Given the description of an element on the screen output the (x, y) to click on. 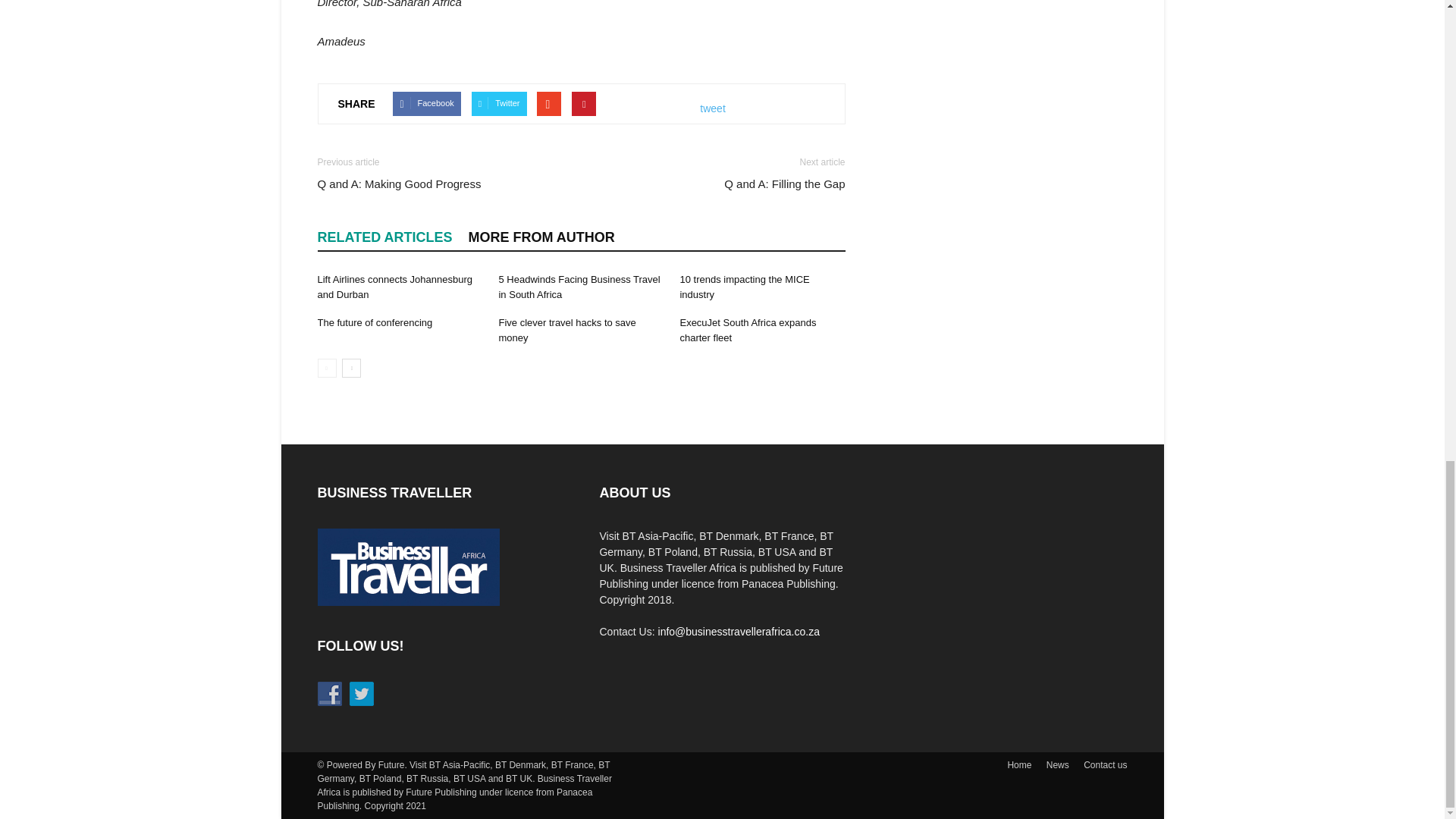
Lift Airlines connects Johannesburg and Durban (394, 286)
10 trends impacting the MICE industry (744, 286)
Follow Us: Facebook (328, 693)
ExecuJet South Africa expands charter fleet (747, 329)
Five clever travel hacks to save money (565, 329)
5 Headwinds Facing Business Travel in South Africa (578, 286)
The future of conferencing (374, 322)
